Given the description of an element on the screen output the (x, y) to click on. 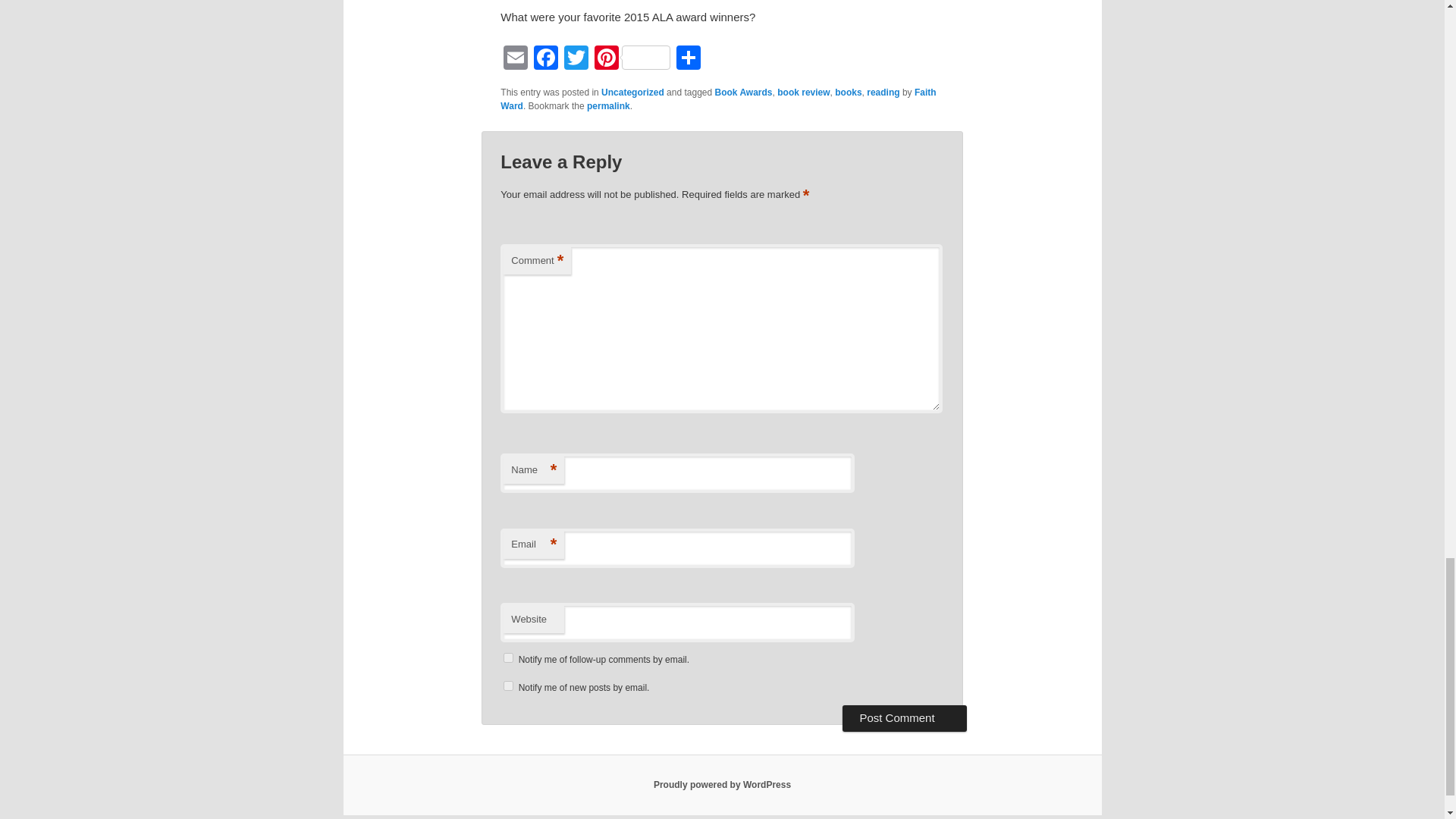
Pinterest (631, 59)
Post Comment (904, 718)
book review (803, 91)
permalink (608, 105)
subscribe (508, 657)
Facebook (545, 59)
books (847, 91)
Proudly powered by WordPress (721, 784)
Share (687, 59)
Semantic Personal Publishing Platform (721, 784)
Uncategorized (632, 91)
Facebook (545, 59)
subscribe (508, 685)
Twitter (575, 59)
reading (882, 91)
